Given the description of an element on the screen output the (x, y) to click on. 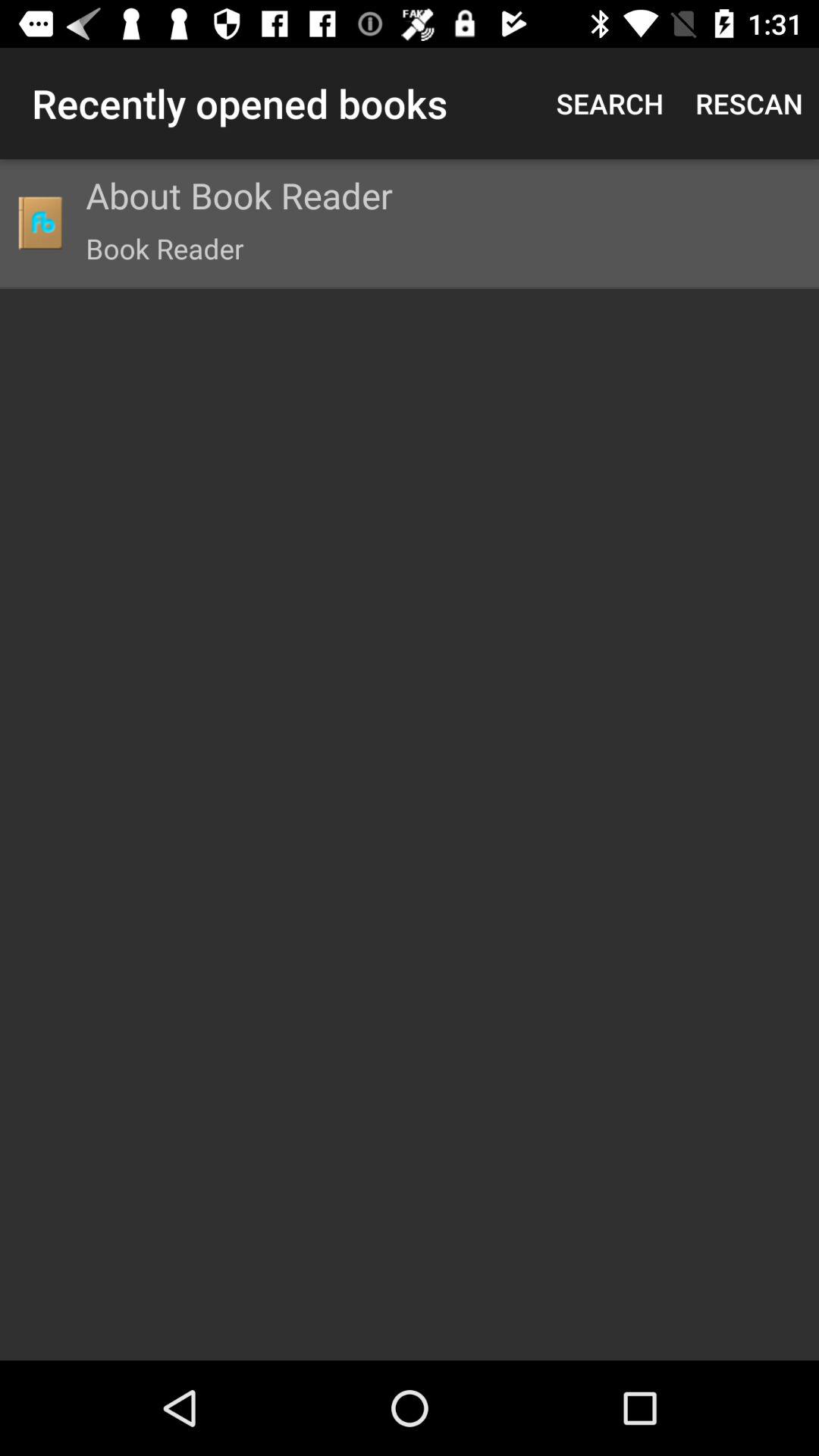
tap the item next to the about book reader icon (39, 222)
